Given the description of an element on the screen output the (x, y) to click on. 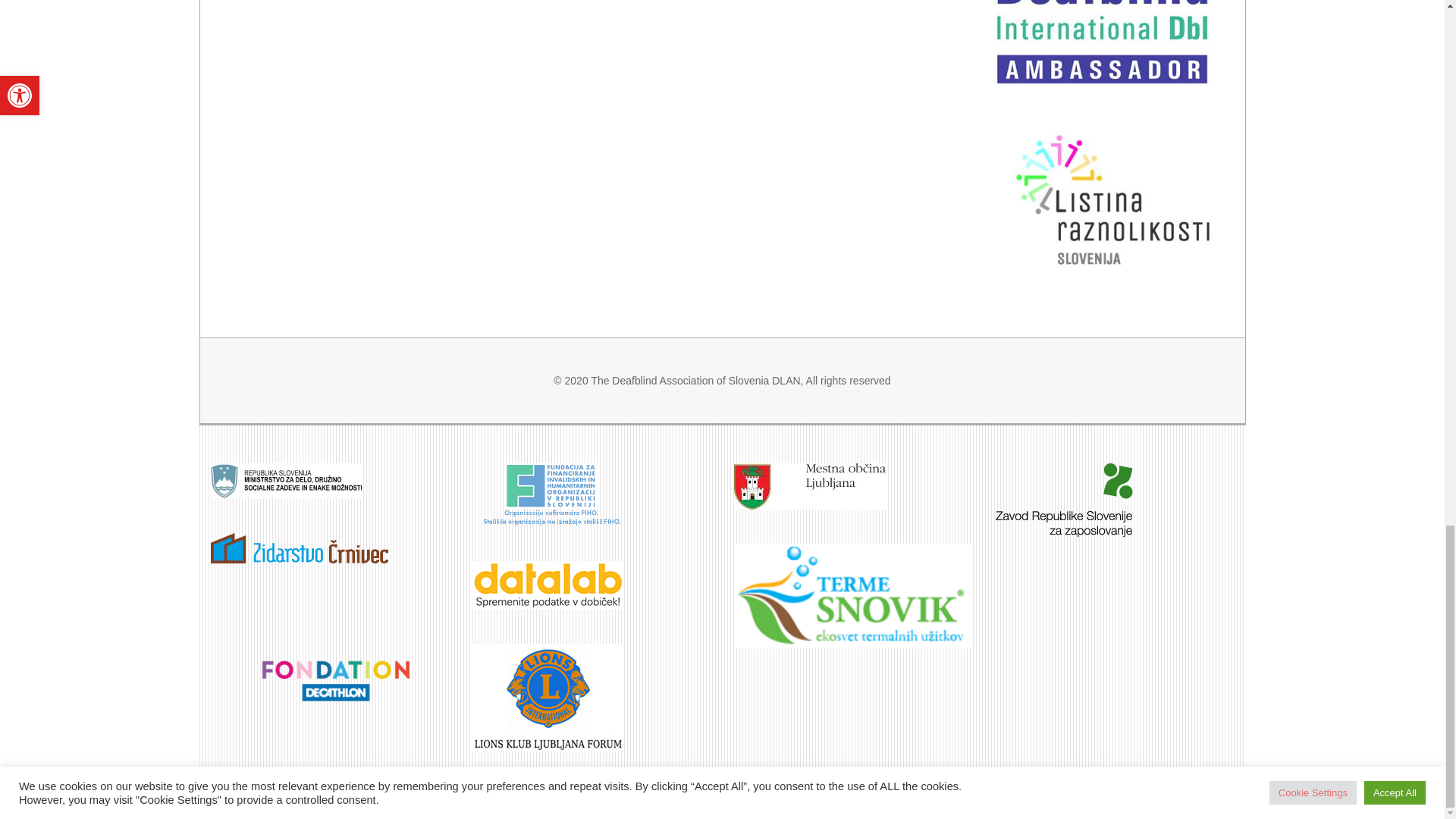
LR-logo-primarni (1111, 199)
ministrstvozadelo (286, 480)
fiho200 (547, 495)
zzz (1063, 500)
mol (809, 486)
termesnovik (852, 596)
zidcrn (299, 548)
